Given the description of an element on the screen output the (x, y) to click on. 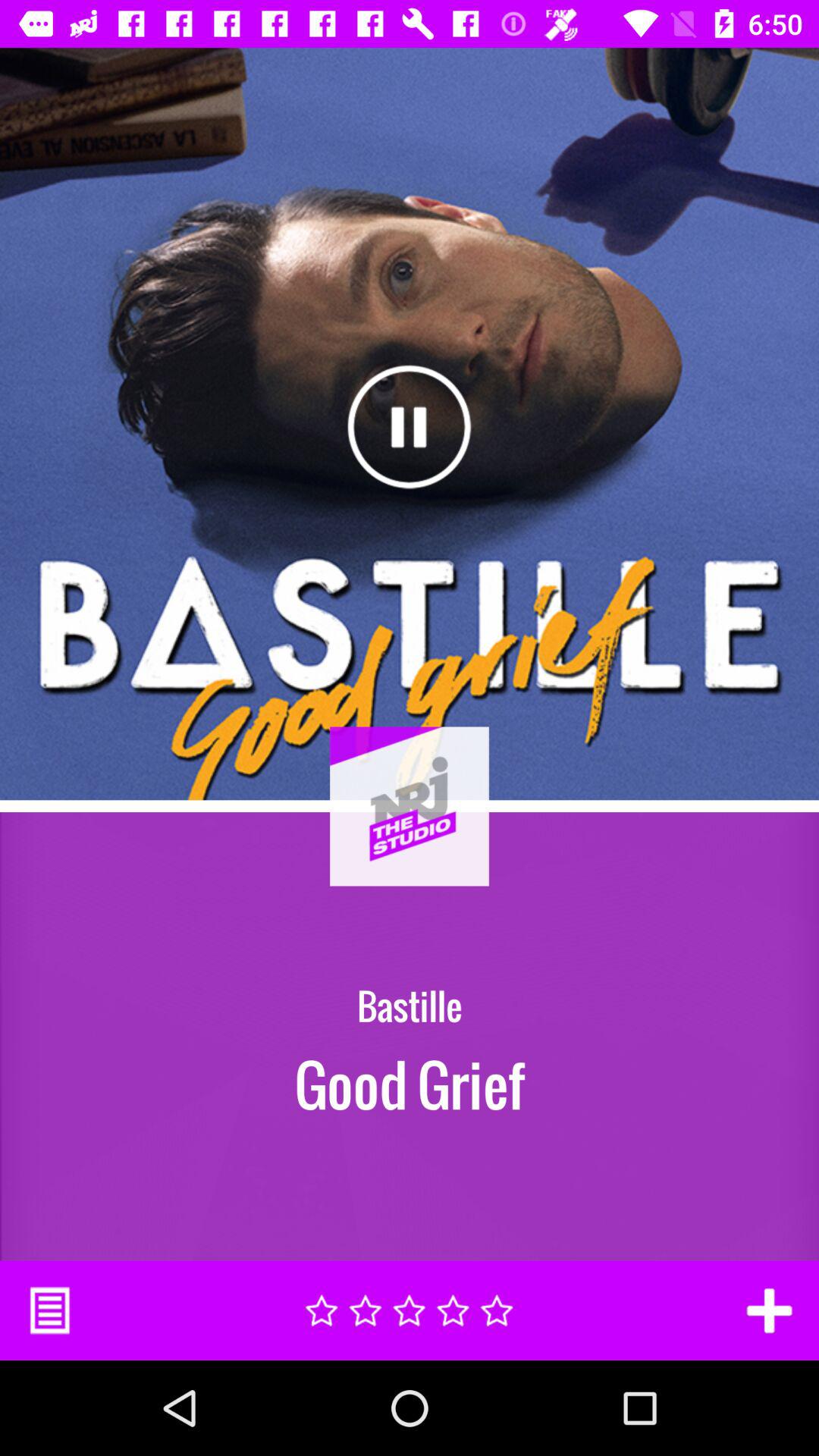
launch the item at the bottom left corner (49, 1310)
